Given the description of an element on the screen output the (x, y) to click on. 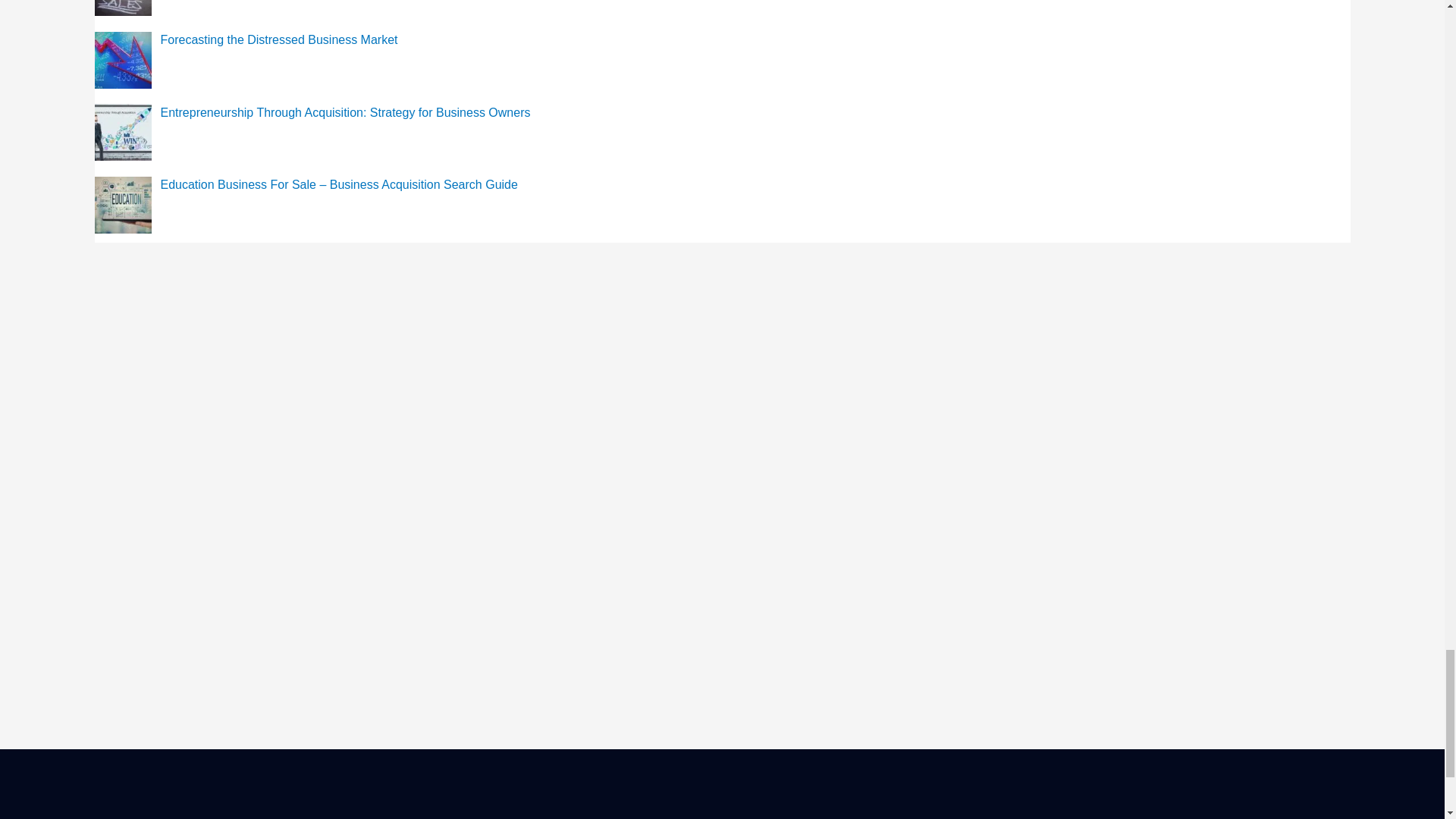
Forecasting the Distressed Business Market (278, 39)
